Given the description of an element on the screen output the (x, y) to click on. 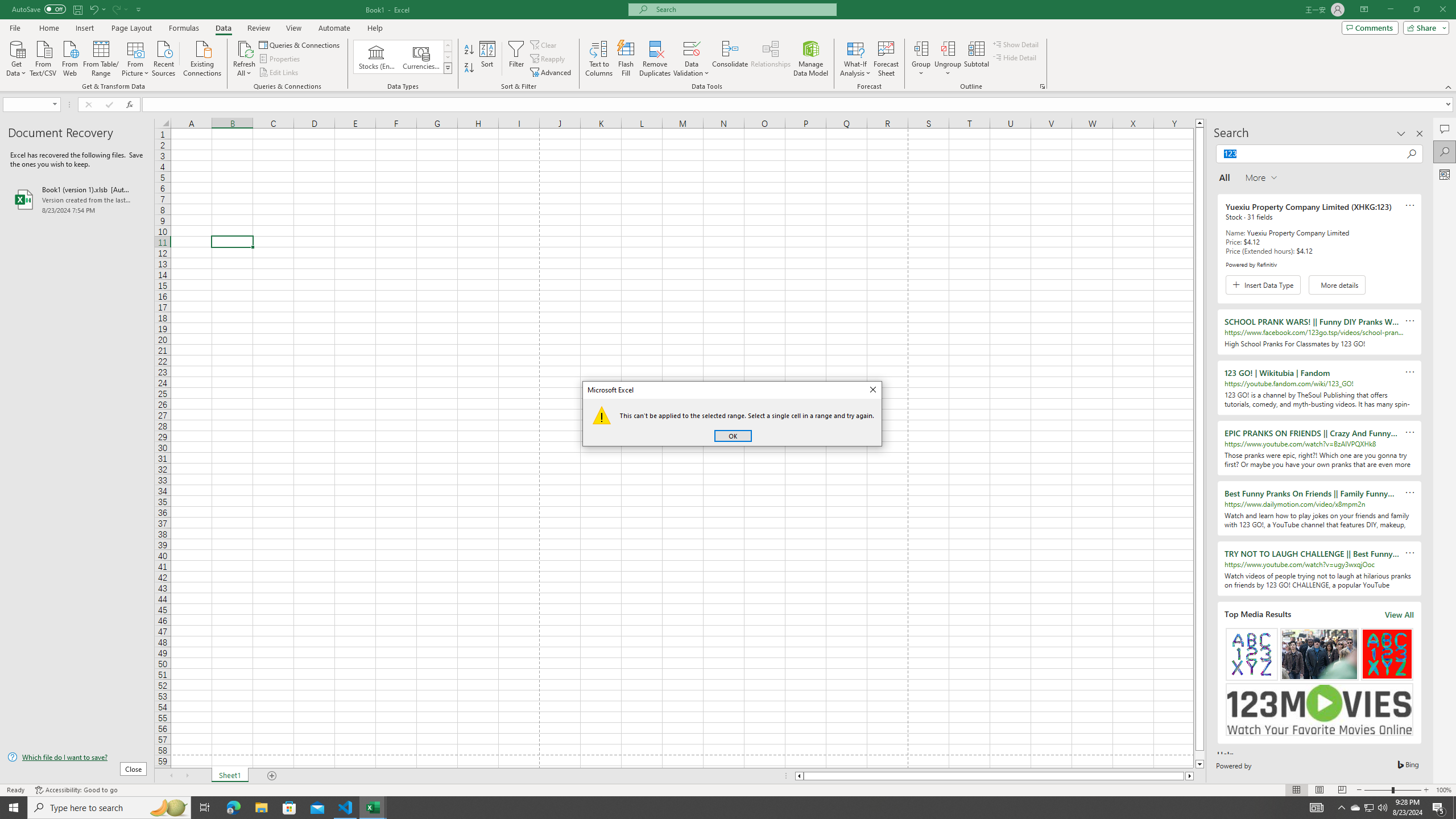
Sort... (487, 58)
Manage Data Model (810, 58)
Name Box (27, 104)
Formulas (184, 28)
Zoom In (1426, 790)
Search highlights icon opens search home window (167, 807)
Row up (448, 45)
Queries & Connections (300, 44)
Relationships (770, 58)
Existing Connections (202, 57)
Page Layout (131, 28)
Action Center, 5 new notifications (1439, 807)
Show Detail (1016, 44)
Excel - 2 running windows (373, 807)
Scroll Right (187, 775)
